Given the description of an element on the screen output the (x, y) to click on. 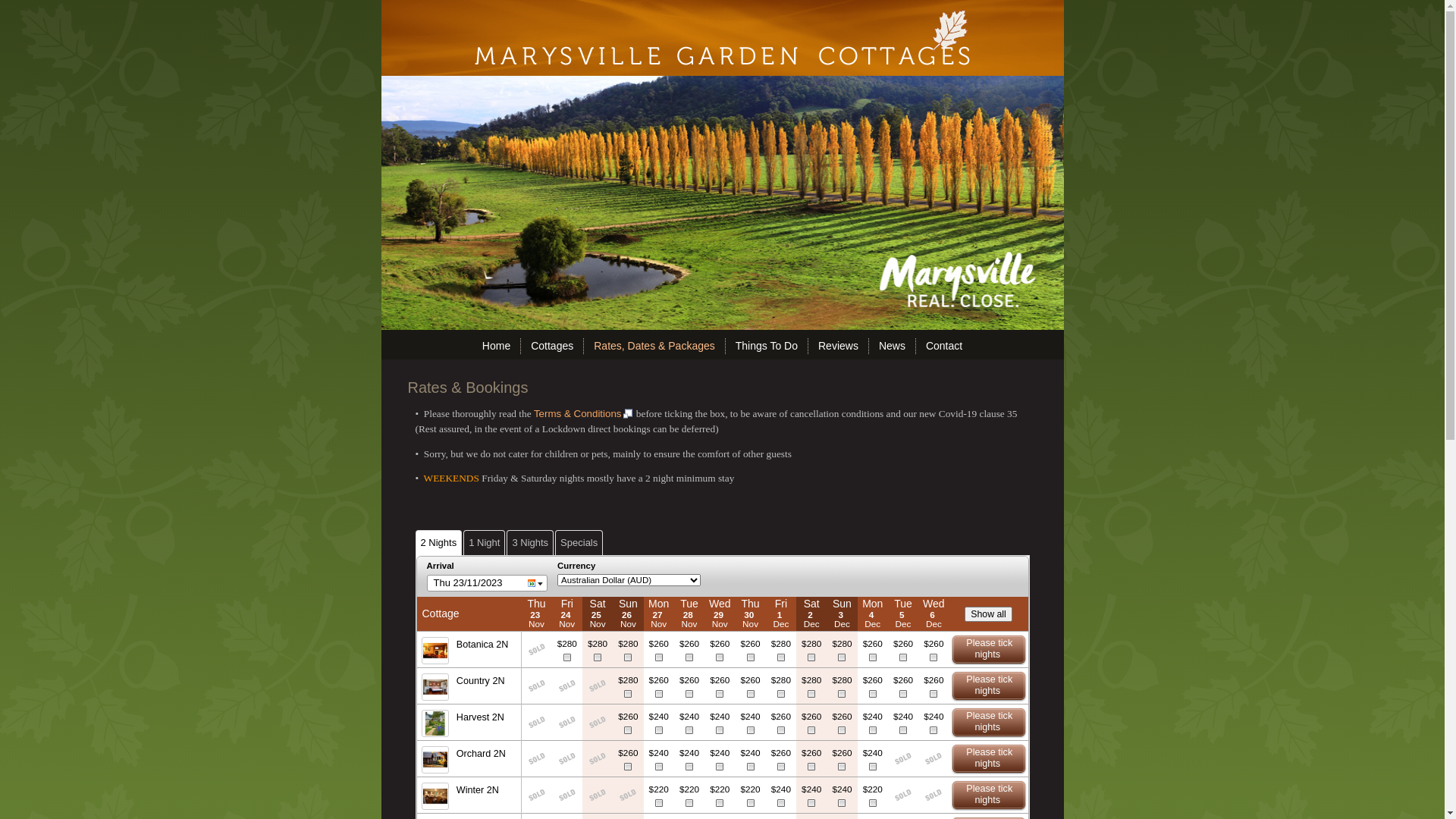
3 Nights Element type: text (529, 542)
Reviews Element type: text (838, 345)
Cottages Element type: text (551, 345)
Rates, Dates & Packages Element type: text (654, 345)
Thu 23/11/2023 Element type: text (486, 582)
Please tick nights Element type: text (988, 686)
Home Element type: text (496, 345)
1 Night Element type: text (484, 542)
Show all Element type: text (988, 613)
News Element type: text (891, 345)
Contact Element type: text (943, 345)
Specials Element type: text (578, 542)
Please tick nights Element type: text (988, 722)
Please tick nights Element type: text (988, 795)
Things To Do Element type: text (766, 345)
Terms & Conditions Element type: text (583, 413)
2 Nights Element type: text (438, 542)
Please tick nights Element type: text (988, 649)
Please tick nights Element type: text (988, 758)
